Given the description of an element on the screen output the (x, y) to click on. 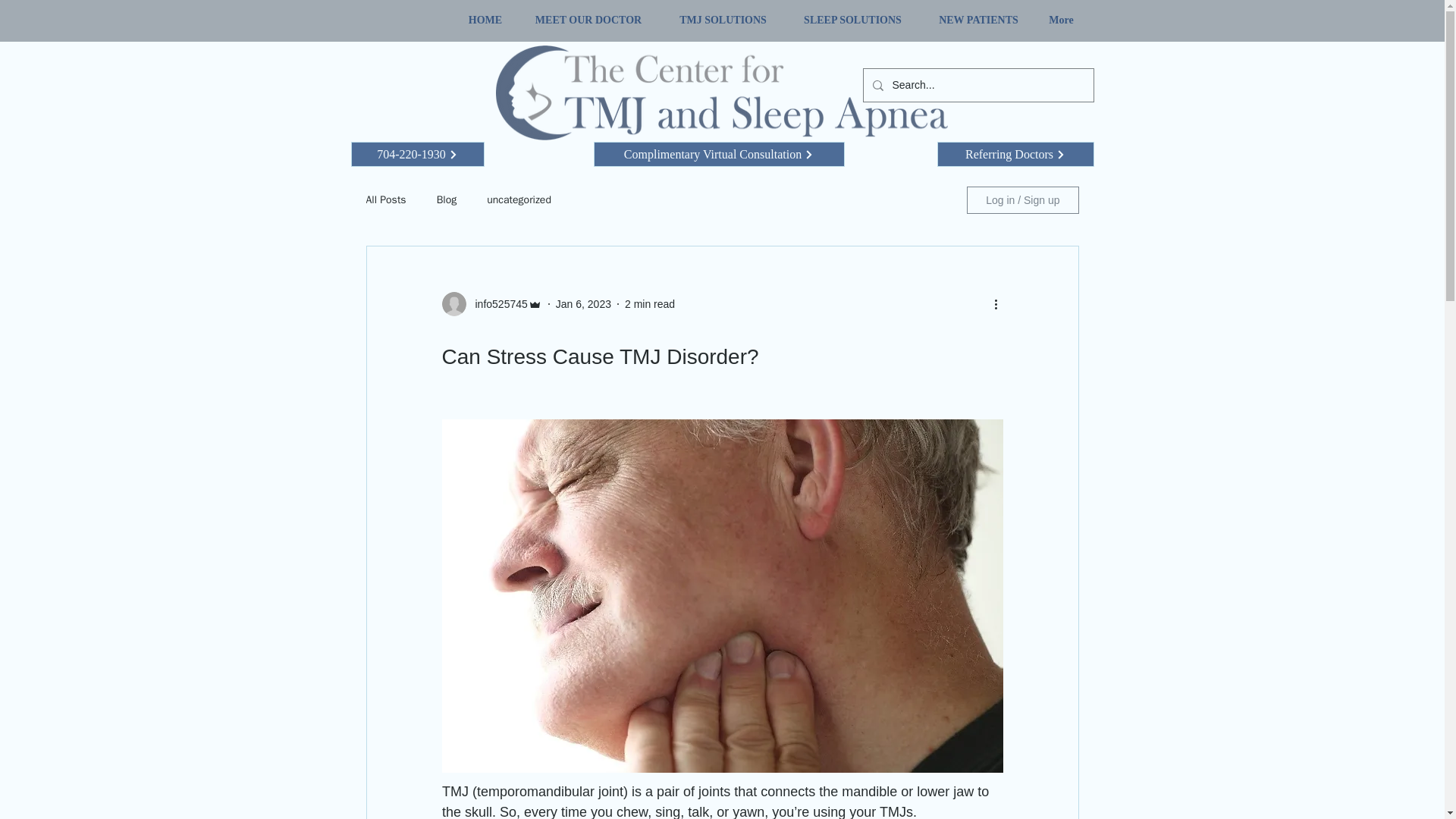
SLEEP SOLUTIONS (852, 20)
Blog (446, 200)
uncategorized (518, 200)
Referring Doctors (1015, 154)
MEET OUR DOCTOR (588, 20)
2 min read (649, 303)
Jan 6, 2023 (583, 303)
HOME (484, 20)
info525745 (496, 303)
Complimentary Virtual Consultation (718, 154)
NEW PATIENTS (977, 20)
704-220-1930 (416, 154)
All Posts (385, 200)
TMJ SOLUTIONS (722, 20)
